Given the description of an element on the screen output the (x, y) to click on. 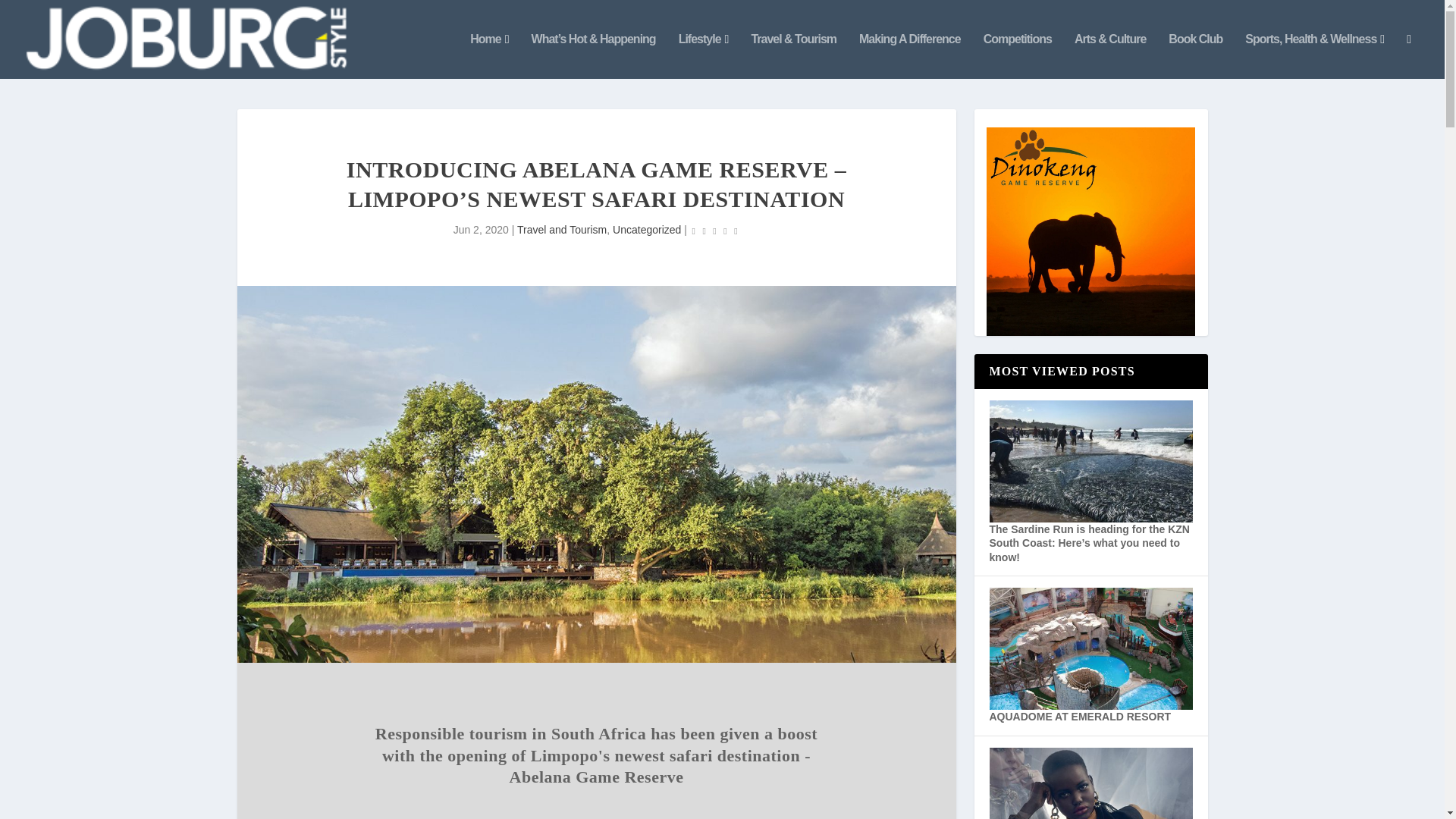
Lifestyle (703, 55)
Book Club (1196, 55)
Making A Difference (909, 55)
Uncategorized (646, 229)
Travel and Tourism (561, 229)
Competitions (1017, 55)
Rating: 0.00 (714, 230)
